Given the description of an element on the screen output the (x, y) to click on. 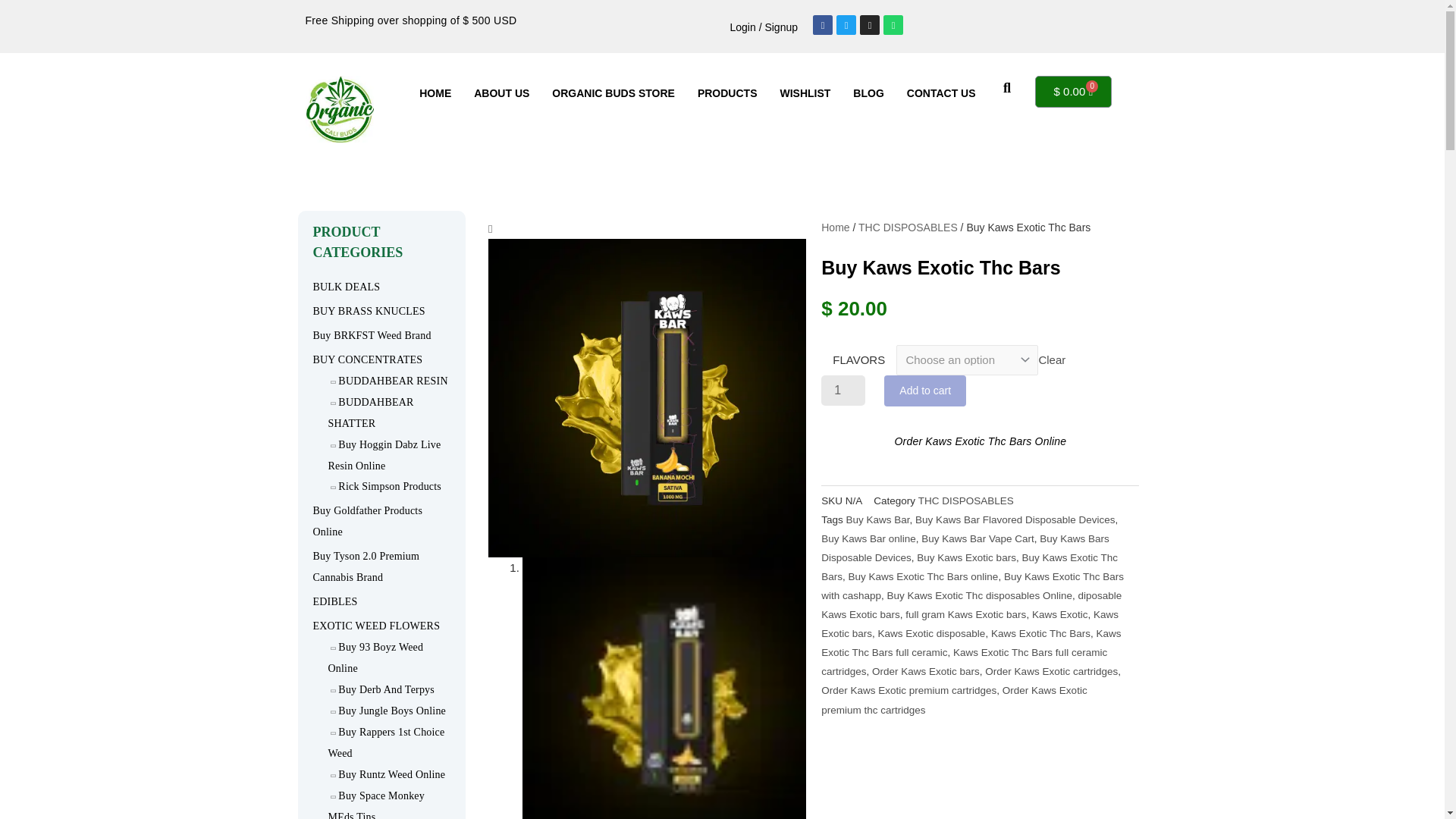
HOME (435, 93)
BLOG (868, 93)
Buy Kaws Exotic Thc Bars-sativa (646, 397)
Whatsapp (892, 25)
Instagram (869, 25)
Facebook-f (822, 25)
CONTACT US (941, 93)
ORGANIC BUDS STORE (612, 93)
1 (842, 390)
Twitter (845, 25)
WISHLIST (804, 93)
ABOUT US (501, 93)
PRODUCTS (726, 93)
